Given the description of an element on the screen output the (x, y) to click on. 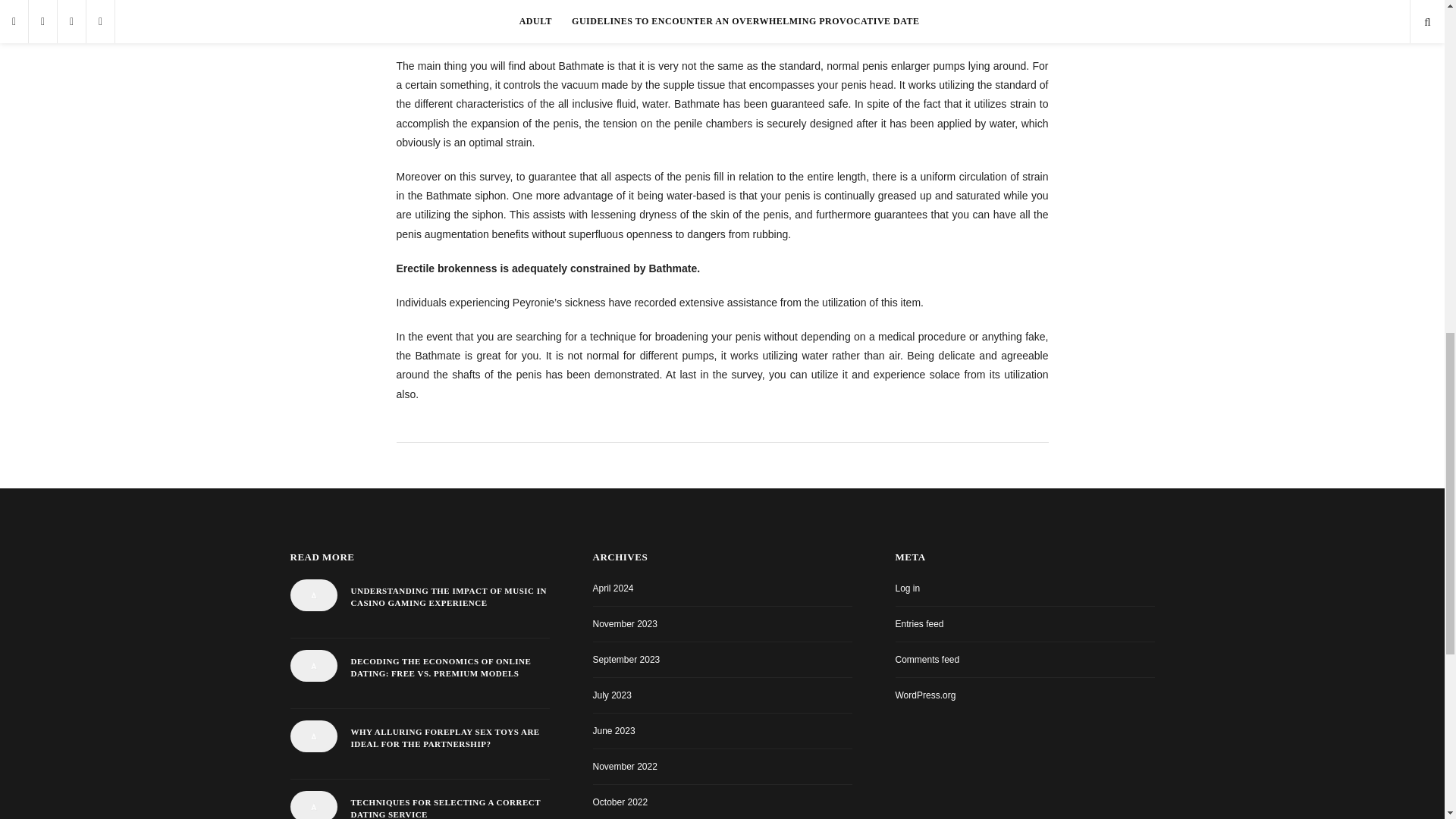
September 2023 (626, 659)
July 2023 (611, 695)
November 2022 (625, 766)
October 2022 (619, 801)
TECHNIQUES FOR SELECTING A CORRECT DATING SERVICE (449, 807)
June 2023 (613, 730)
November 2023 (625, 624)
Log in (907, 588)
April 2024 (612, 588)
